Given the description of an element on the screen output the (x, y) to click on. 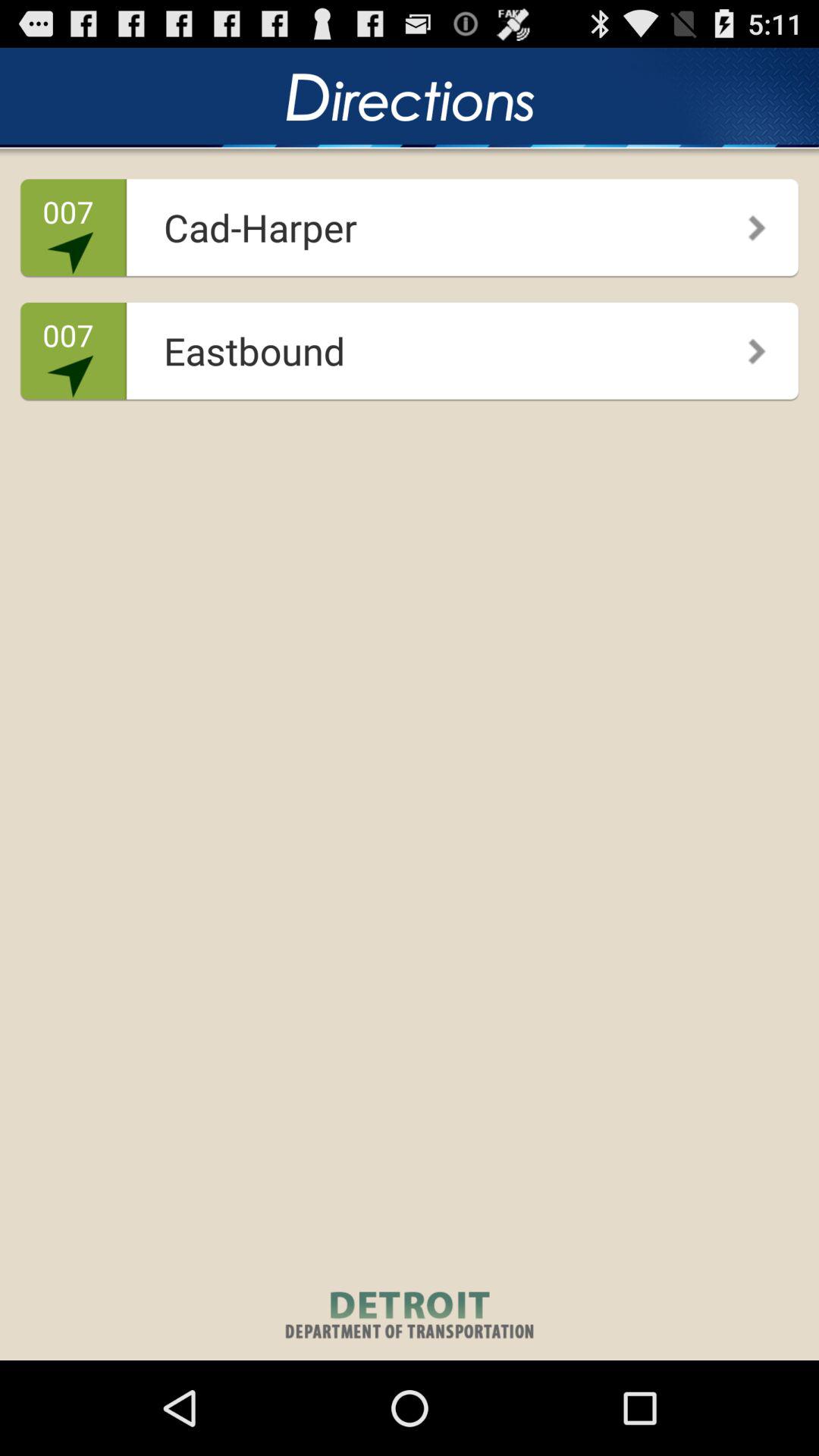
open app next to 007 item (404, 222)
